Given the description of an element on the screen output the (x, y) to click on. 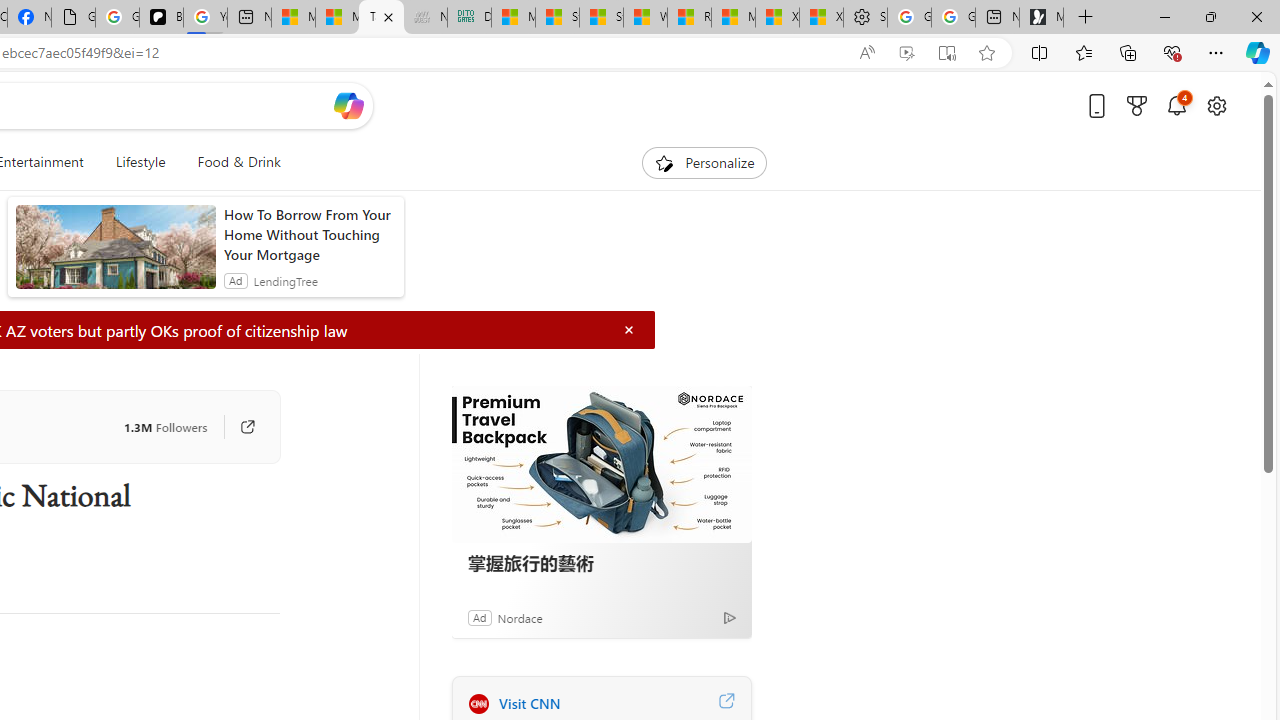
CNN (478, 703)
Food & Drink (230, 162)
Enter Immersive Reader (F9) (946, 53)
Personalize (703, 162)
Go to publisher's site (237, 426)
Nordace (519, 617)
Google Analytics Opt-out Browser Add-on Download Page (73, 17)
